Given the description of an element on the screen output the (x, y) to click on. 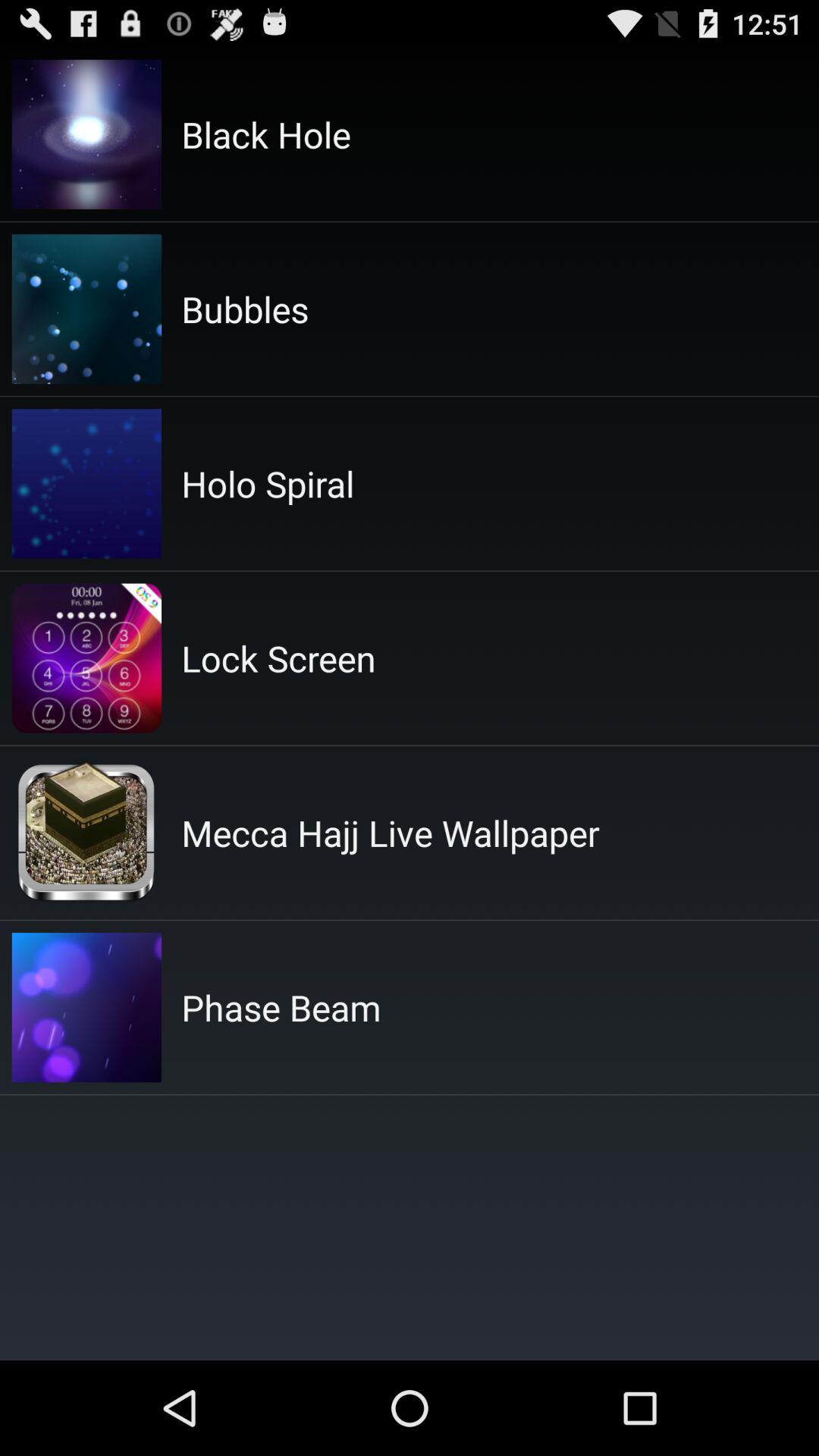
select the app below the bubbles app (267, 483)
